Given the description of an element on the screen output the (x, y) to click on. 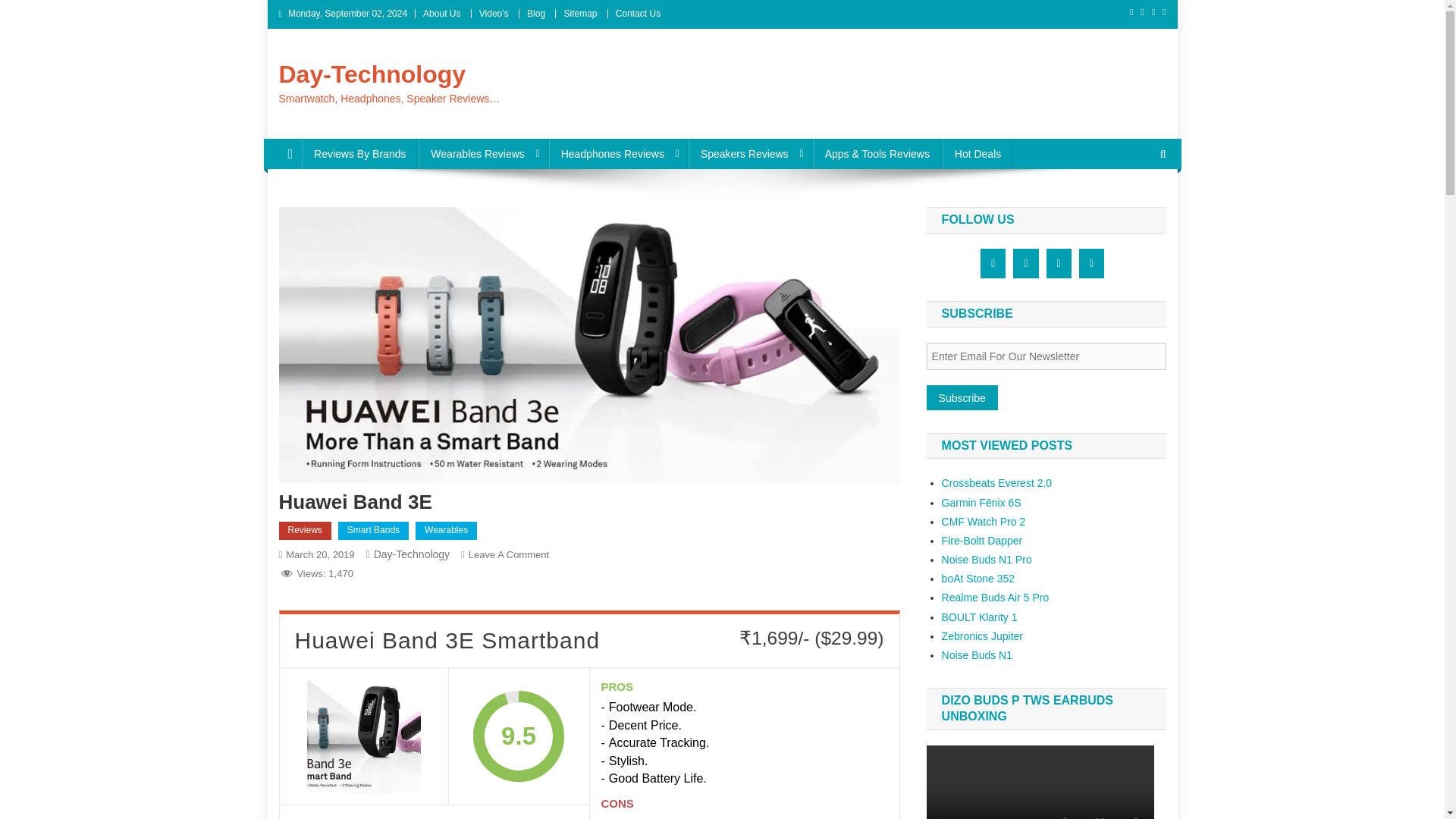
About Us (441, 13)
Headphones Reviews (617, 153)
Day-Technology (372, 73)
Sitemap (579, 13)
Huawei Band 3E Smartband (363, 736)
Blog (535, 13)
Speakers Reviews (750, 153)
Wearables Reviews (483, 153)
Contact Us (638, 13)
Subscribe (961, 397)
